Given the description of an element on the screen output the (x, y) to click on. 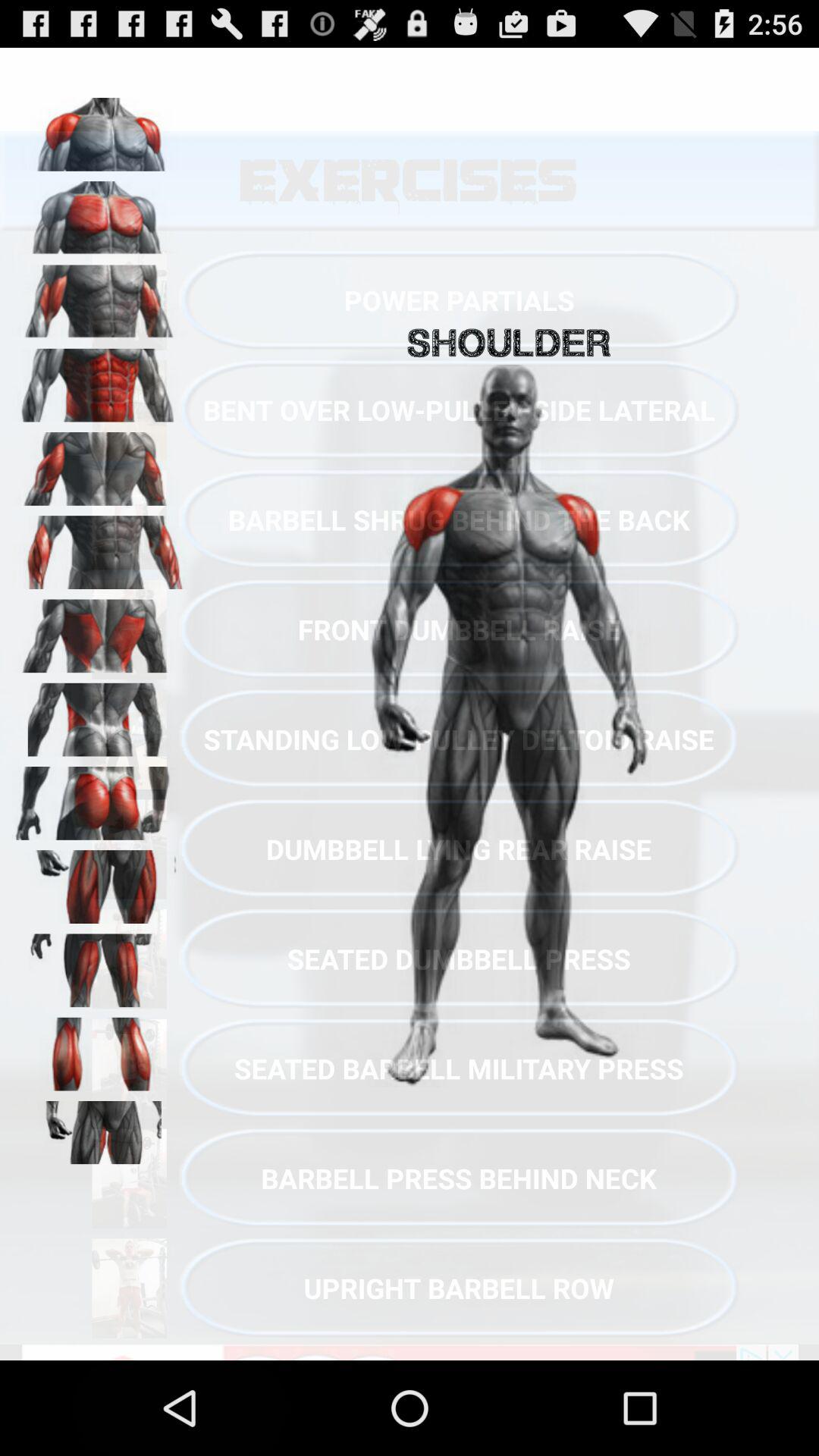
select upper back area (99, 630)
